Given the description of an element on the screen output the (x, y) to click on. 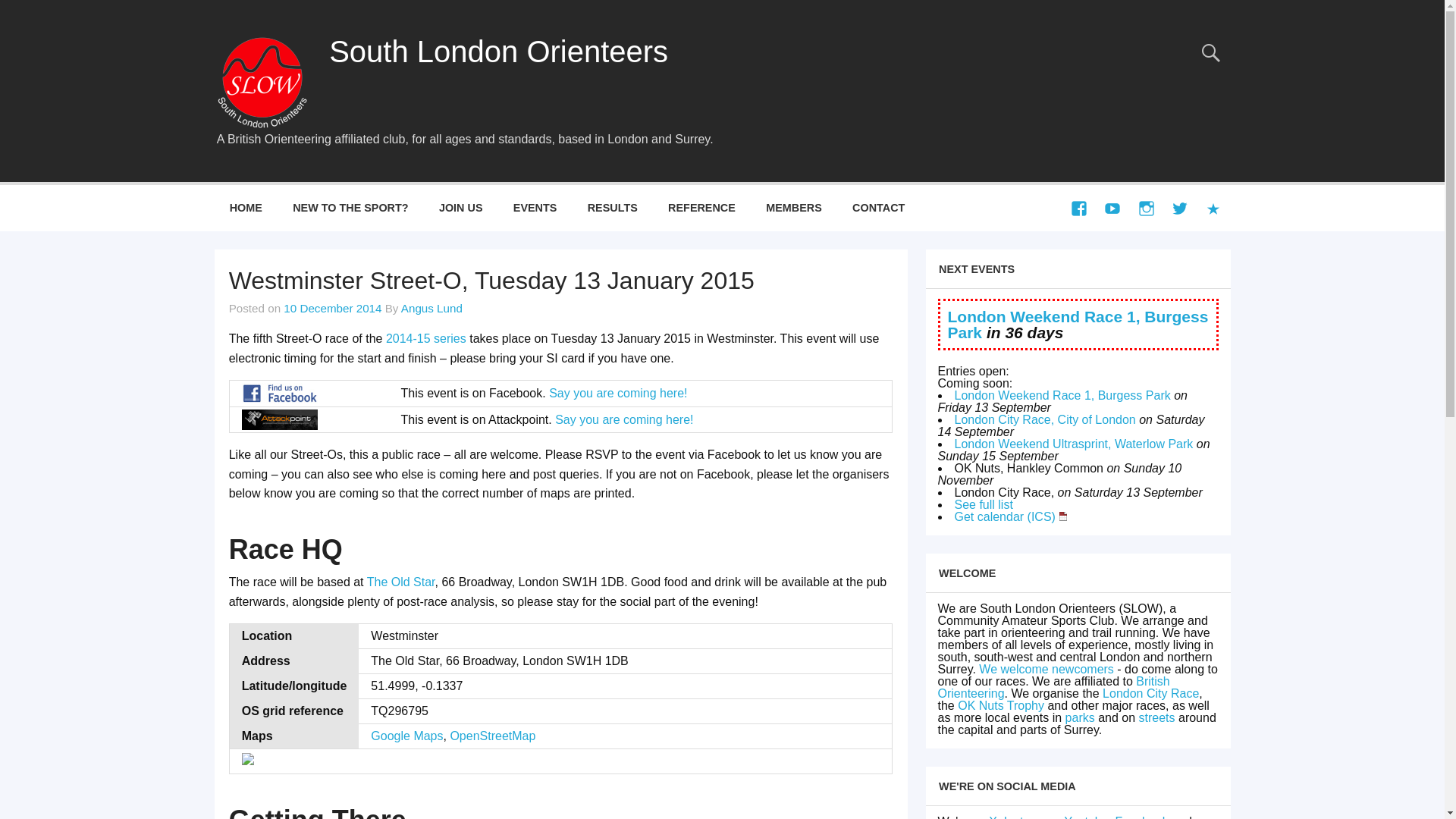
RESULTS (612, 207)
This event is on Facebook (279, 393)
MEMBERS (794, 207)
South London Orienteers (498, 51)
21:55 (332, 308)
HOME (246, 207)
JOIN US (460, 207)
REFERENCE (701, 207)
EVENTS (534, 207)
View all posts by Angus Lund (432, 308)
This event is on Attackpoint (279, 419)
NEW TO THE SPORT? (350, 207)
